Given the description of an element on the screen output the (x, y) to click on. 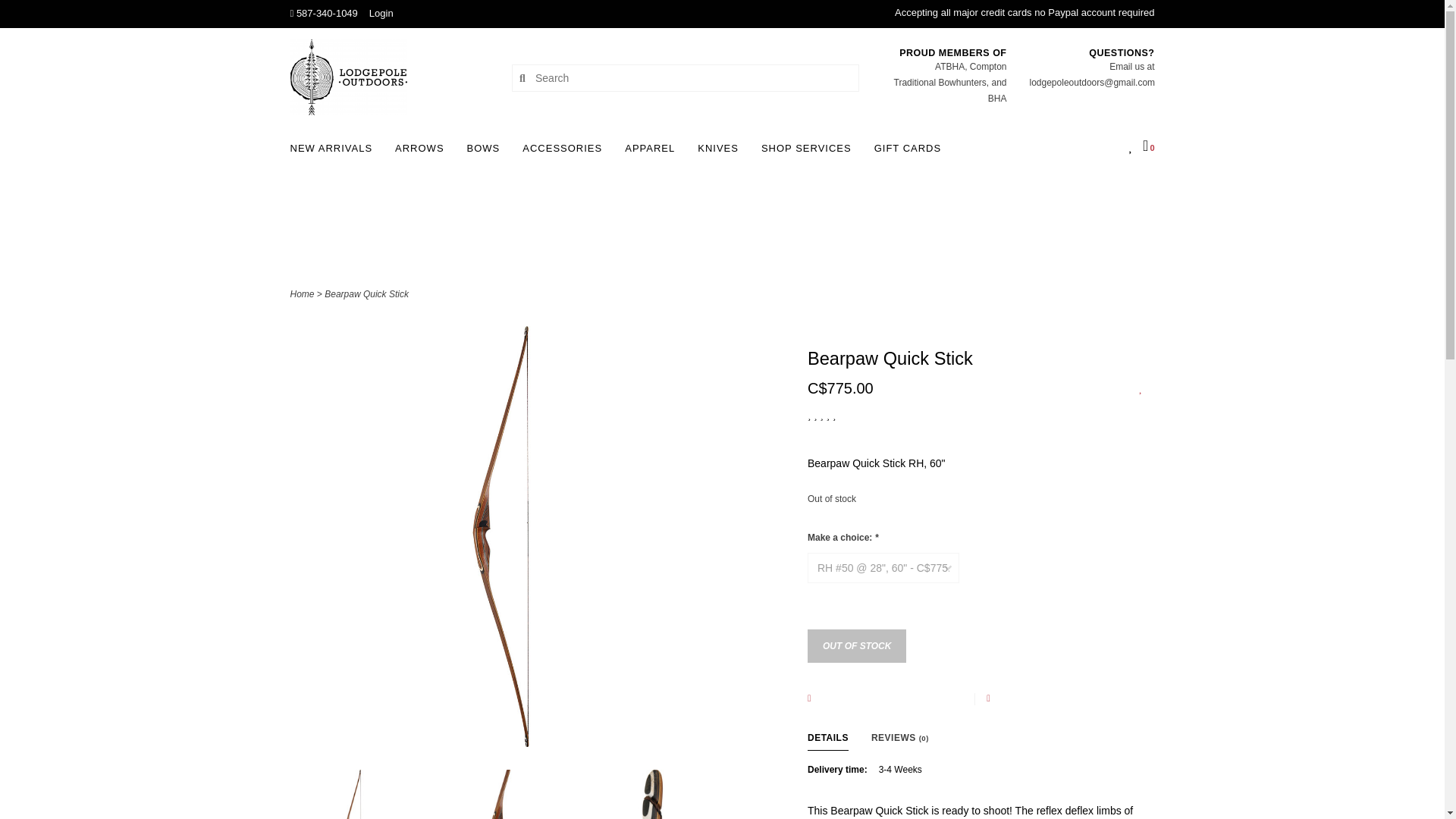
Lodgepole Outdoors (389, 77)
BOWS (487, 152)
Login (381, 12)
New Arrivals (334, 152)
Arrows (422, 152)
Bows (487, 152)
APPAREL (653, 152)
 Accessories (566, 152)
587-340-1049 (322, 12)
ARROWS (422, 152)
NEW ARRIVALS (334, 152)
My account (381, 12)
ACCESSORIES (566, 152)
